Given the description of an element on the screen output the (x, y) to click on. 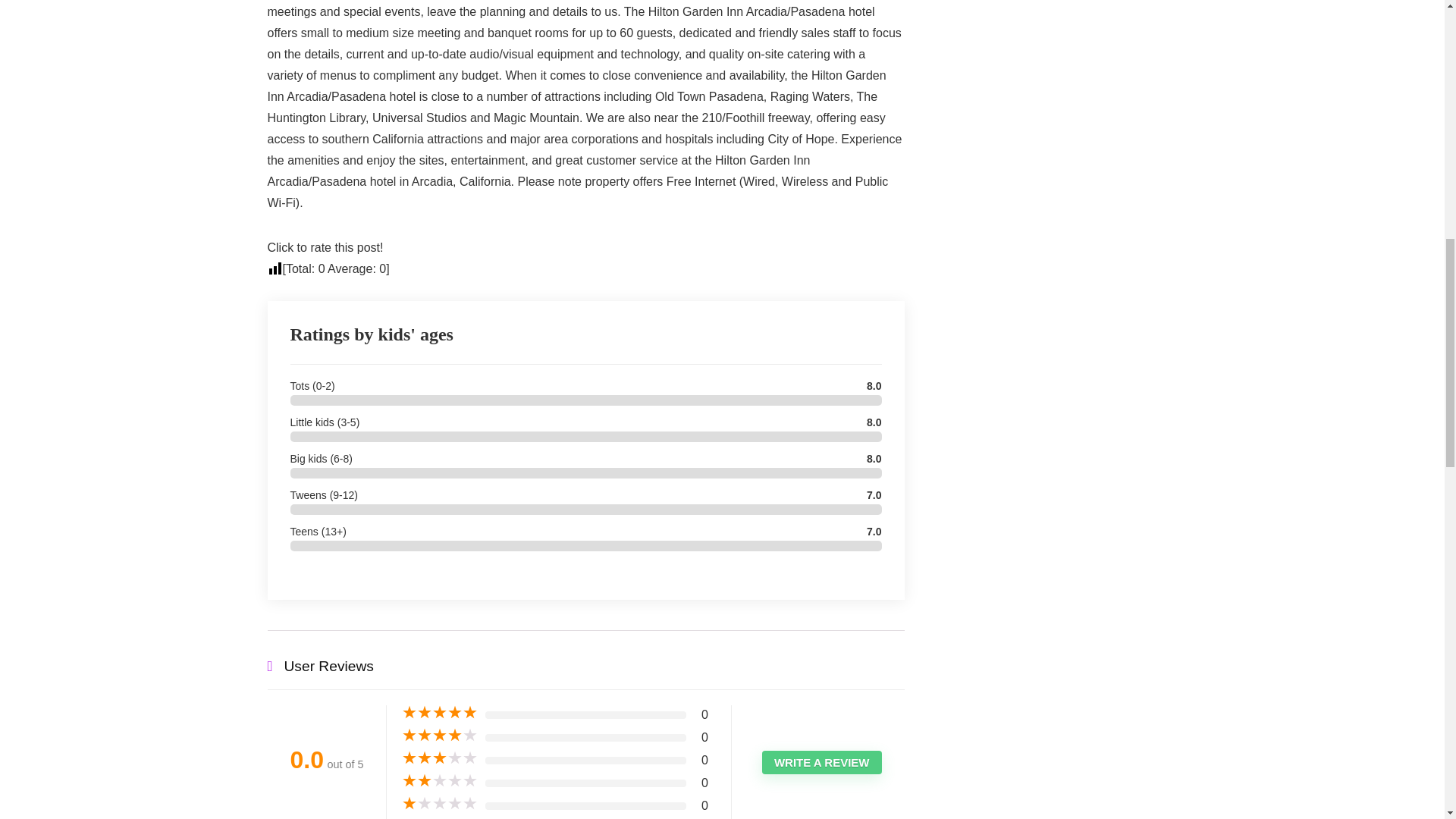
Rated 4 out of 5 (439, 735)
Rated 2 out of 5 (439, 780)
Rated 5 out of 5 (439, 712)
Rated 1 out of 5 (439, 803)
WRITE A REVIEW (821, 762)
Rated 3 out of 5 (439, 758)
